Given the description of an element on the screen output the (x, y) to click on. 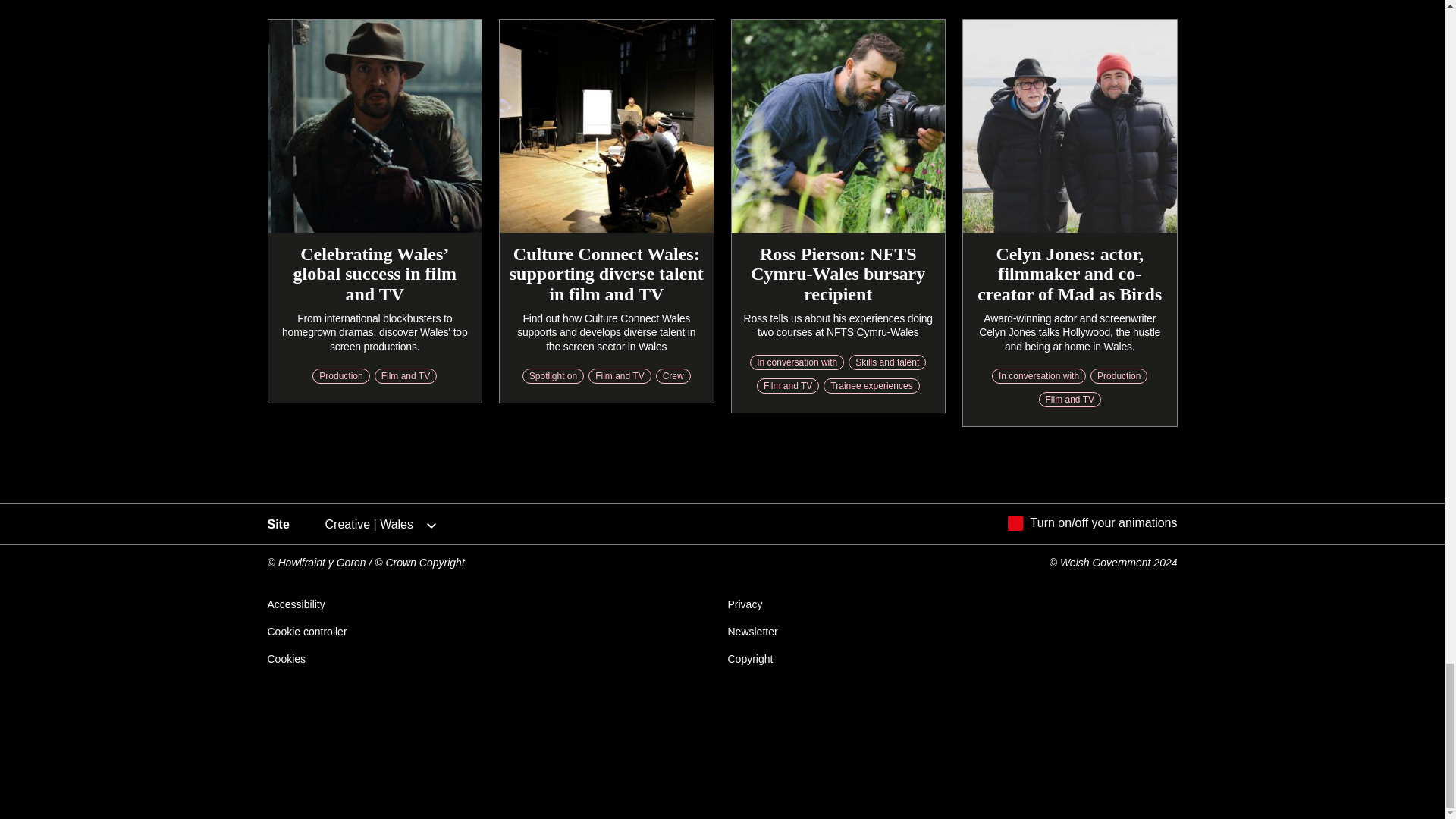
Film and TV (1069, 399)
Film and TV (619, 376)
Celyn Jones: actor, filmmaker and co-creator of Mad as Birds (1068, 273)
Production (1118, 376)
Film and TV (405, 376)
In conversation with (796, 362)
Spotlight on (552, 376)
In conversation with (1038, 376)
Crew (673, 376)
Trainee experiences (871, 385)
